Given the description of an element on the screen output the (x, y) to click on. 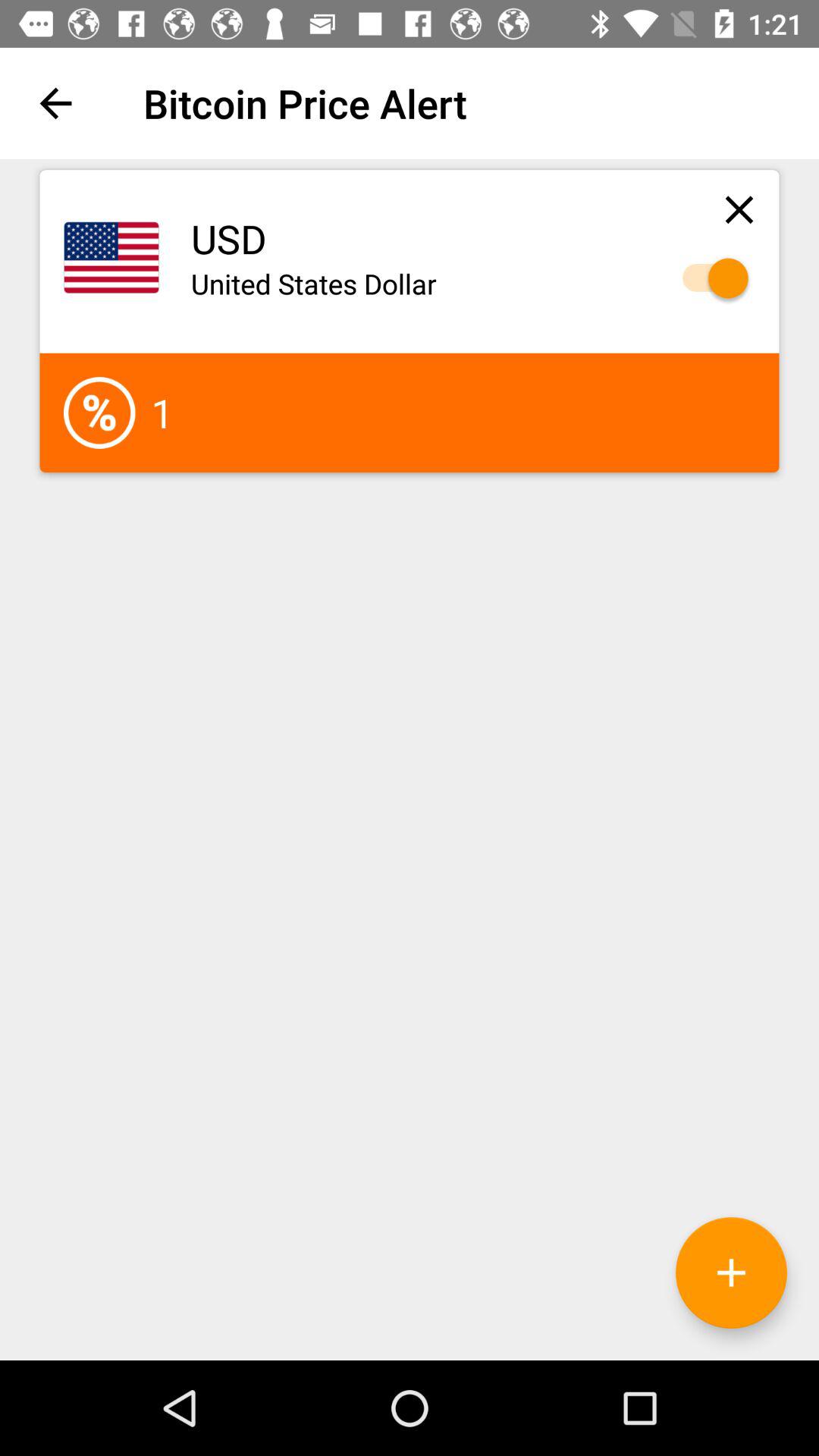
toggle usd off (707, 278)
